Given the description of an element on the screen output the (x, y) to click on. 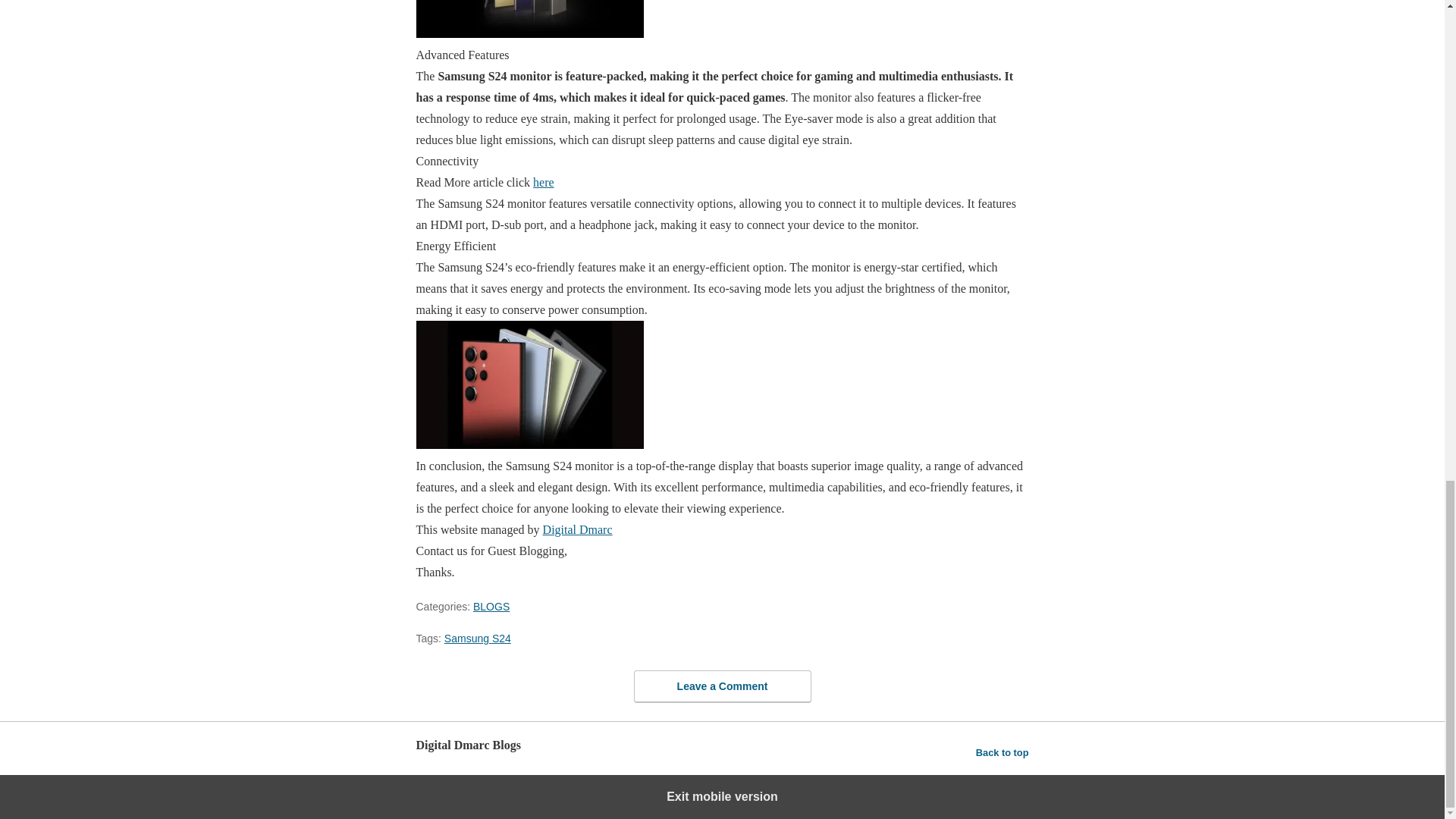
BLOGS (491, 606)
Digital Dmarc (577, 529)
here (543, 182)
Redmi Note 12 Pro (543, 182)
Samsung S24 (477, 638)
Leave a Comment (721, 686)
Back to top (1002, 752)
